Given the description of an element on the screen output the (x, y) to click on. 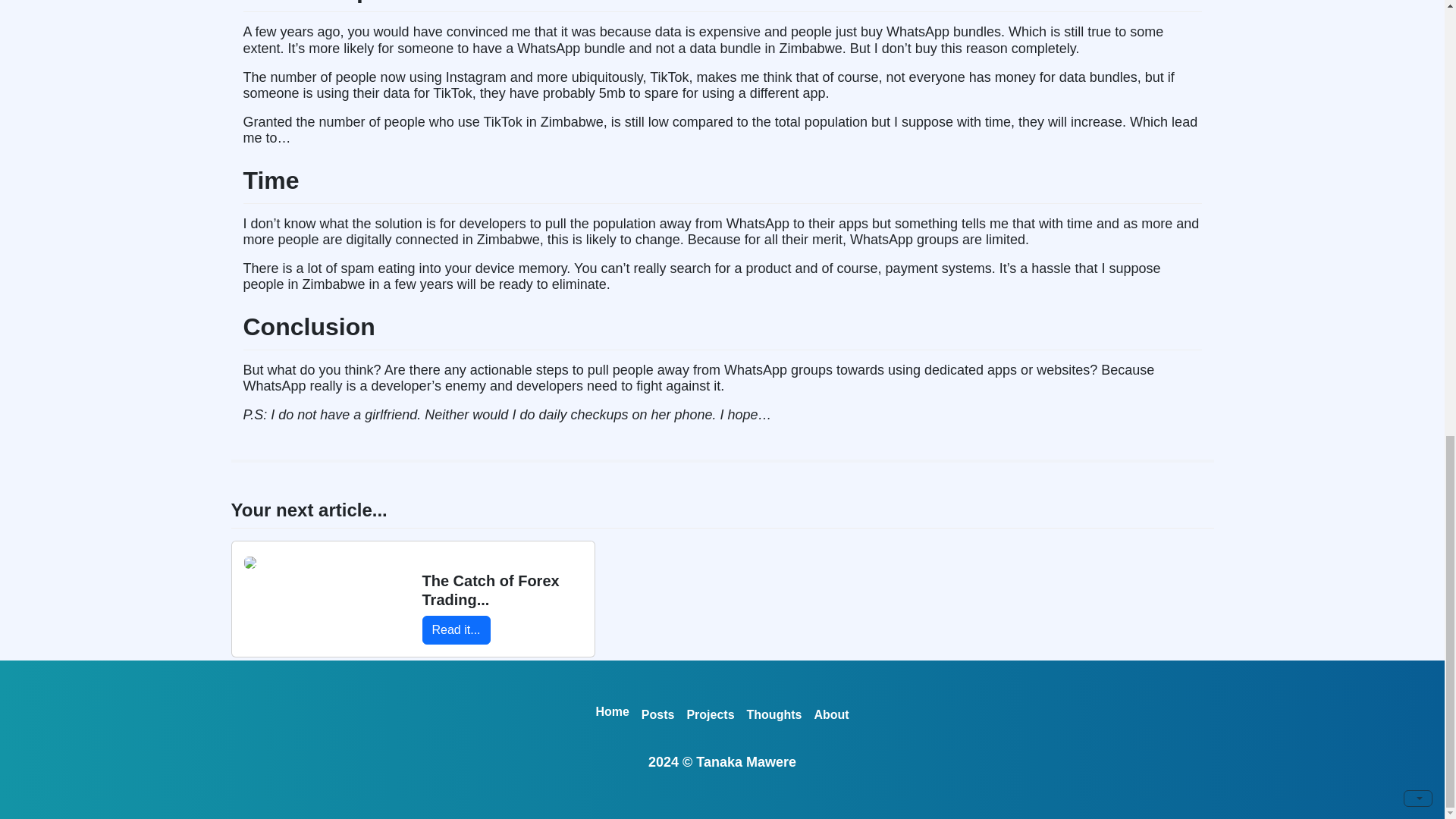
Home (611, 711)
About (831, 715)
Projects (709, 715)
Read it... (455, 629)
Thoughts (774, 715)
Posts (657, 715)
